Given the description of an element on the screen output the (x, y) to click on. 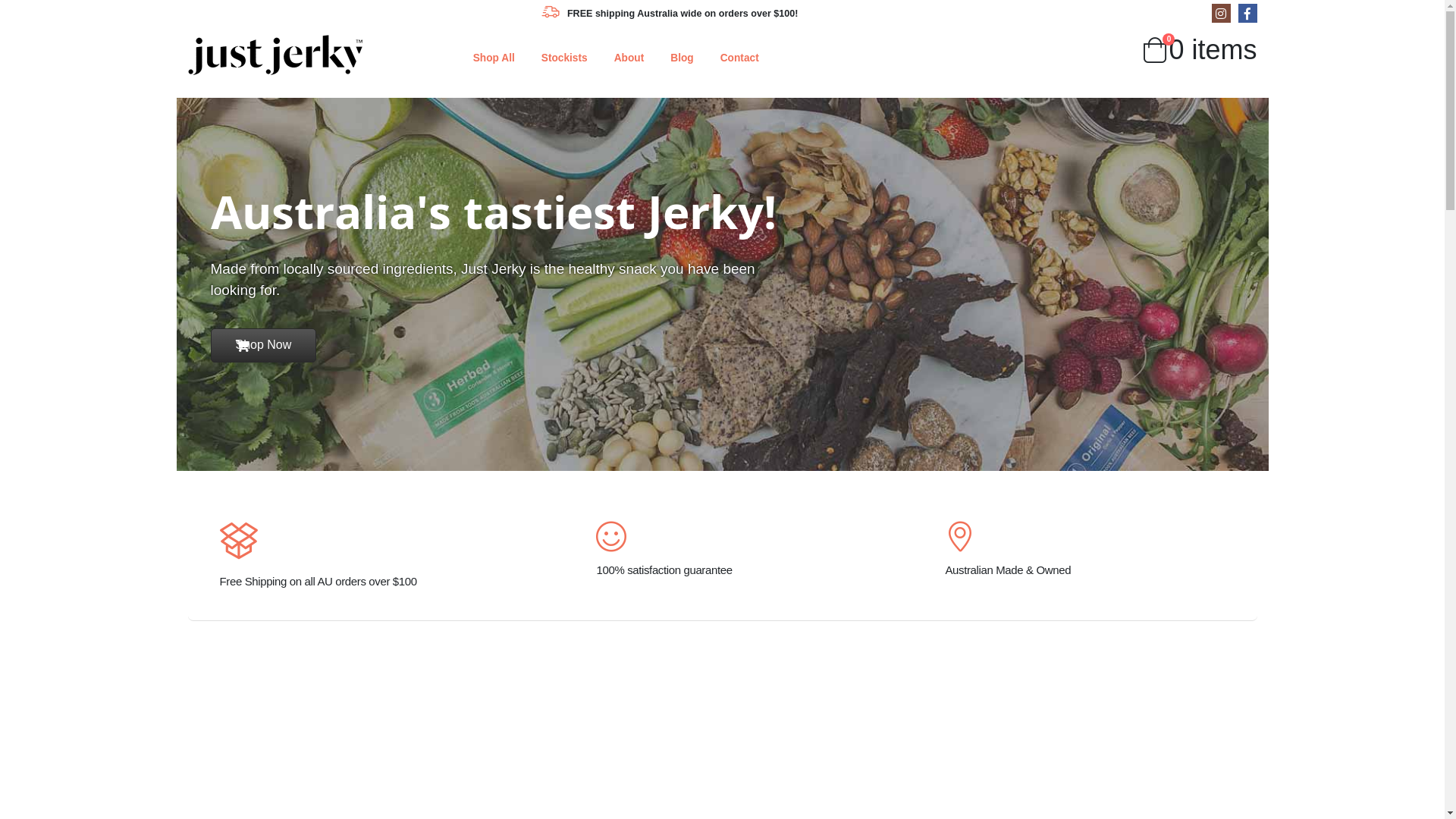
Shop All Element type: text (494, 57)
Stockists Element type: text (564, 57)
About Element type: text (629, 57)
Contact Element type: text (739, 57)
Just Jerky - Just Jerky Element type: hover (275, 54)
Shop Now Element type: text (263, 345)
Blog Element type: text (681, 57)
Facebook Element type: hover (1246, 12)
Instagram Element type: hover (1220, 12)
